Given the description of an element on the screen output the (x, y) to click on. 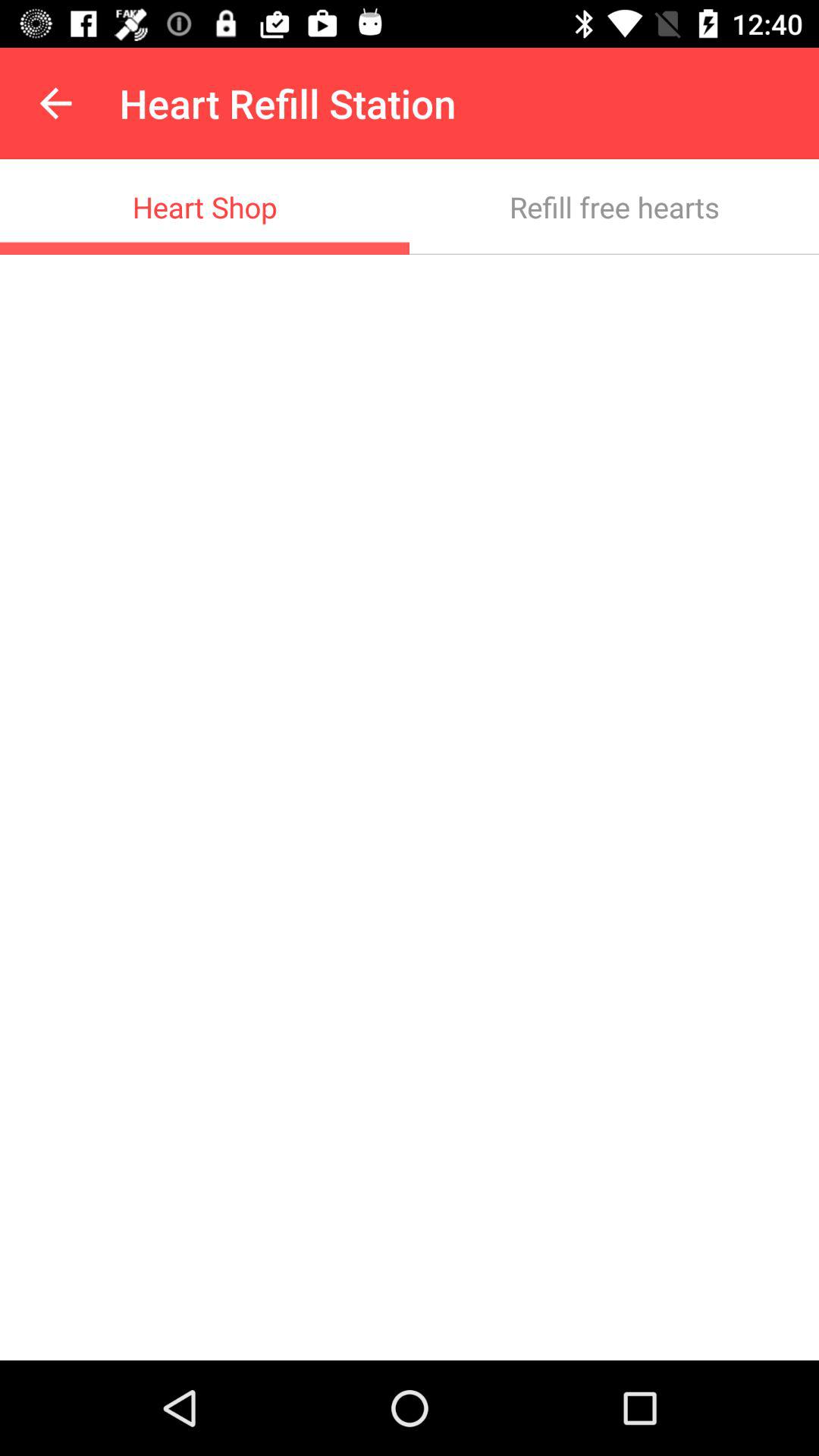
launch the item at the center (409, 807)
